Given the description of an element on the screen output the (x, y) to click on. 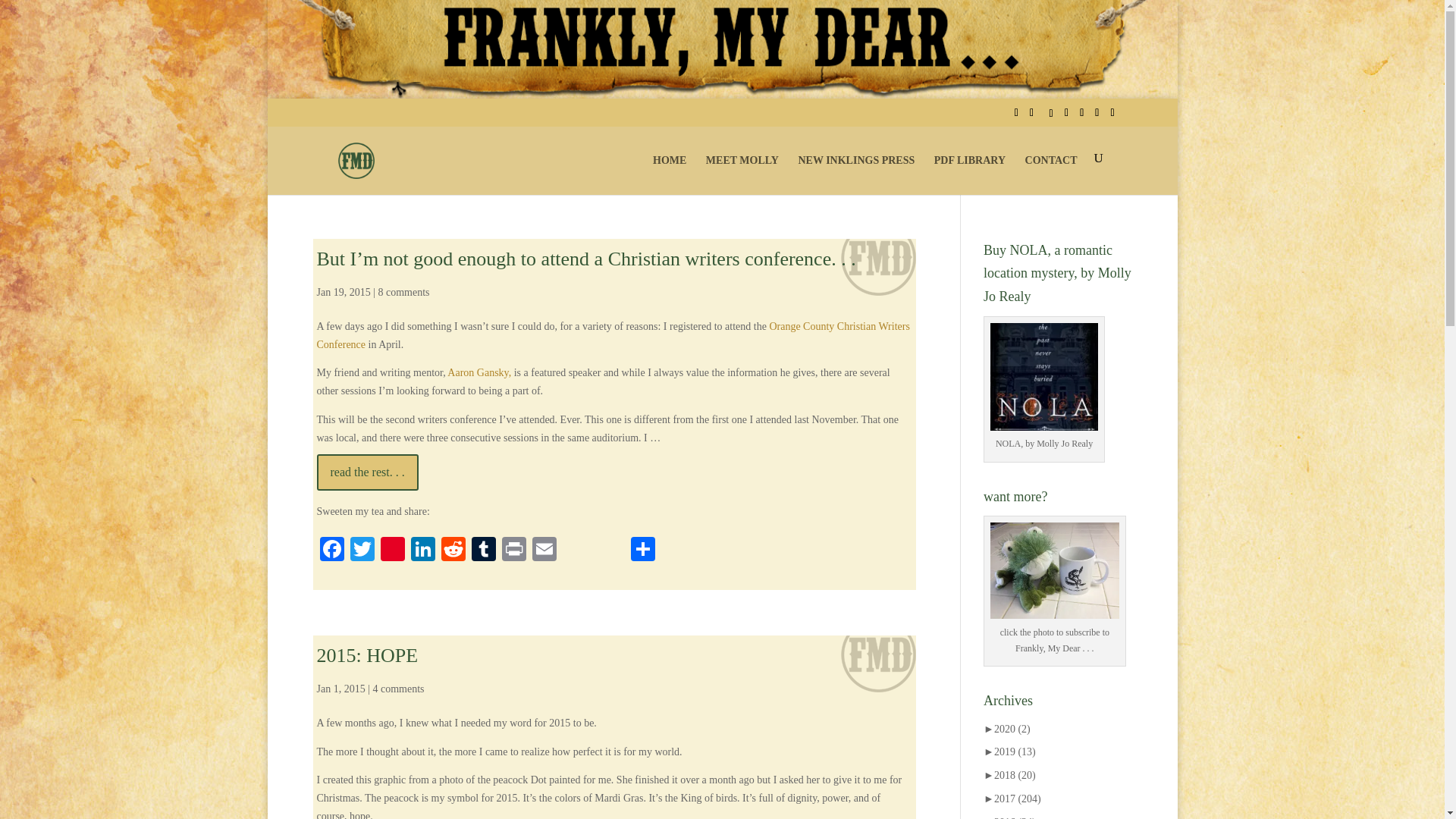
Pinterest (392, 552)
PDF LIBRARY (970, 172)
LinkedIn (422, 552)
Twitter (362, 552)
4 comments (397, 688)
Orange County Christian Writers Conference (613, 335)
Twitter (362, 552)
HOME (668, 172)
MEET MOLLY (742, 172)
Email (544, 552)
Email (544, 552)
Reddit (453, 552)
LinkedIn (422, 552)
Tumblr (483, 552)
Aaron Gansky, (478, 372)
